Given the description of an element on the screen output the (x, y) to click on. 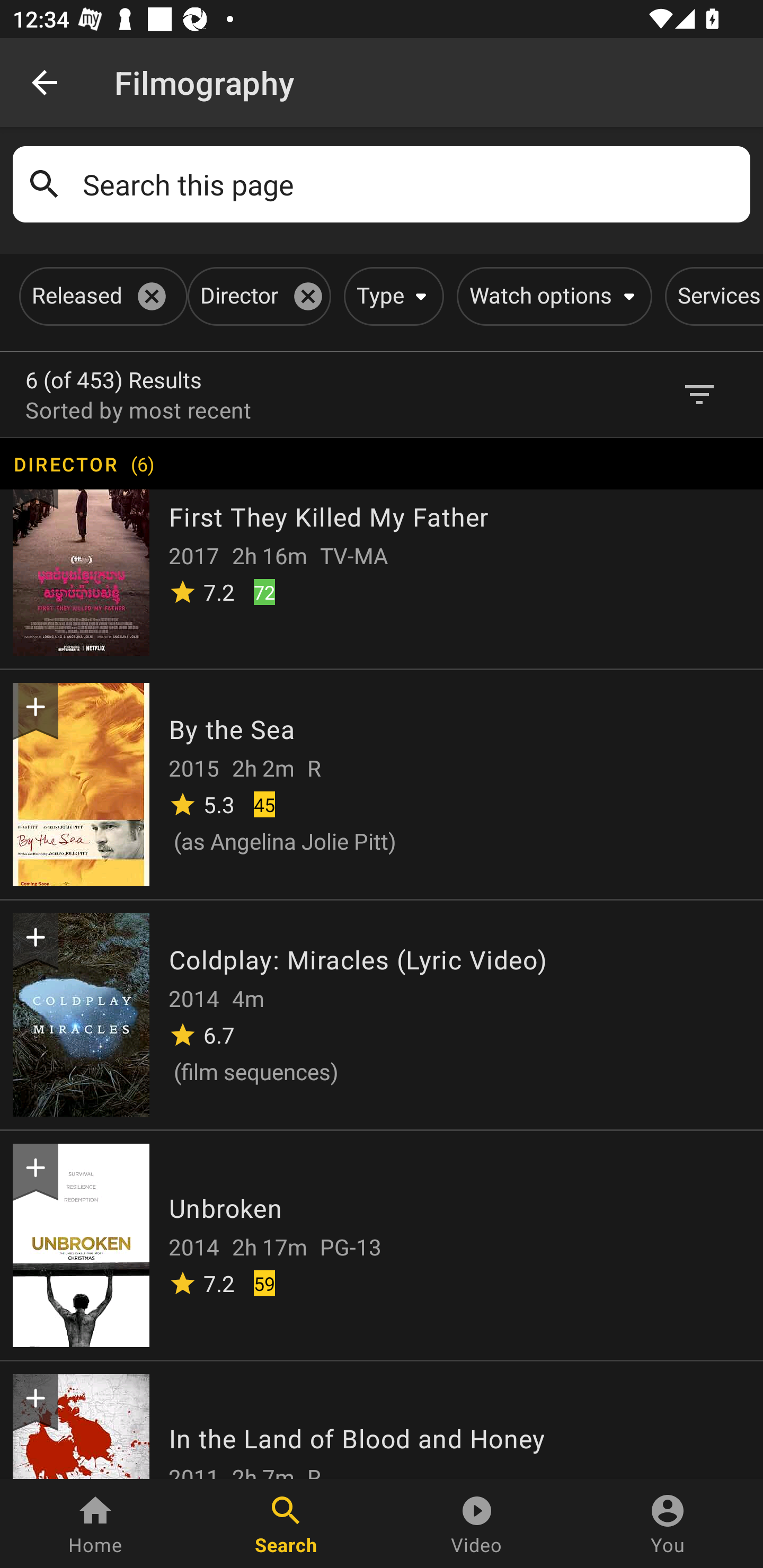
Search this page (410, 184)
Released (100, 296)
Director (256, 296)
Type (390, 296)
Watch options (551, 296)
Services (714, 296)
Unbroken 2014 2h 17m PG-13 7.2 59 (381, 1243)
In the Land of Blood and Honey 2011 2h 7m R (381, 1418)
Home (95, 1523)
Video (476, 1523)
You (667, 1523)
